Given the description of an element on the screen output the (x, y) to click on. 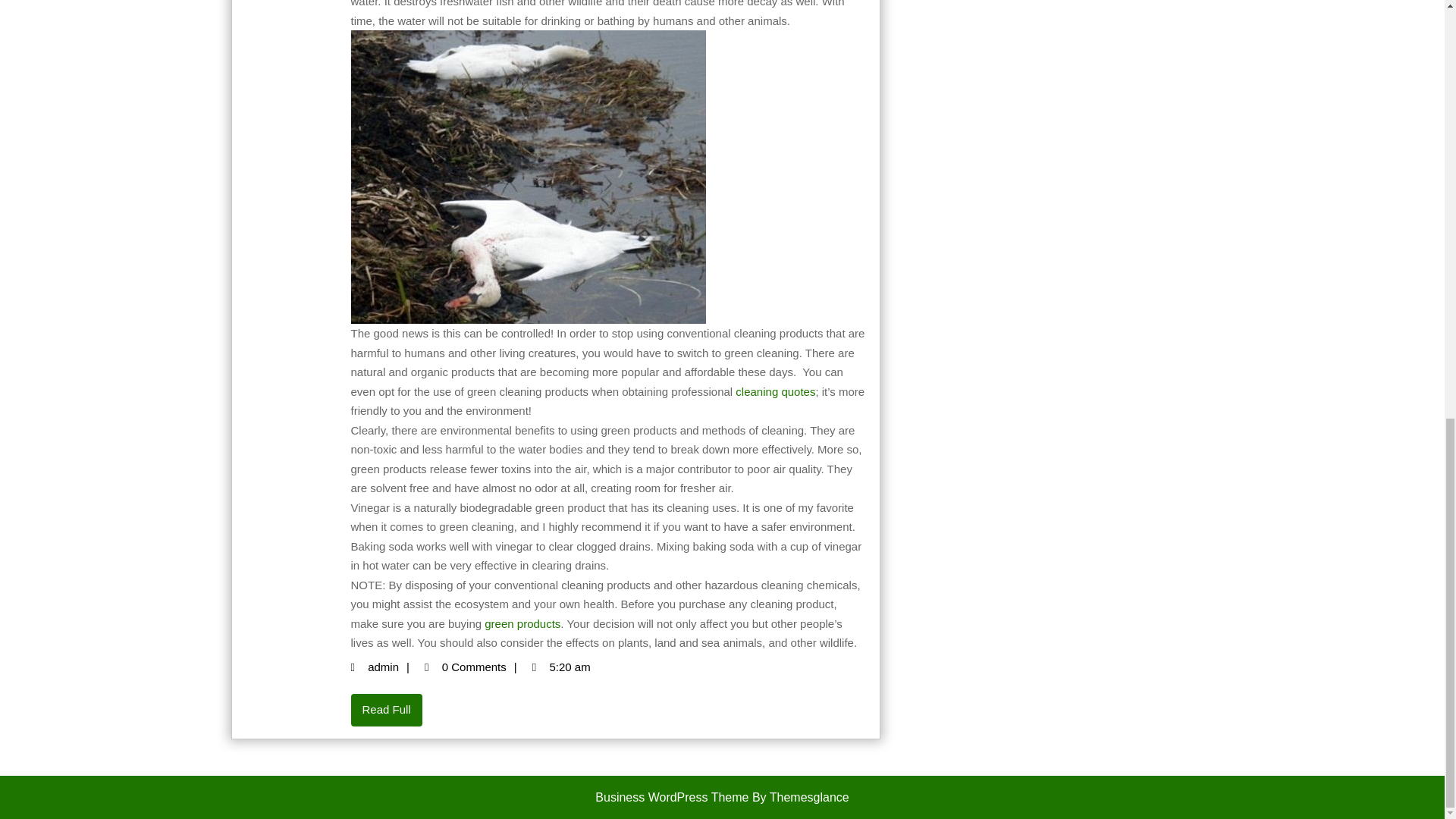
cleaning quotes (775, 391)
Business WordPress Theme (671, 797)
green products (393, 666)
